Given the description of an element on the screen output the (x, y) to click on. 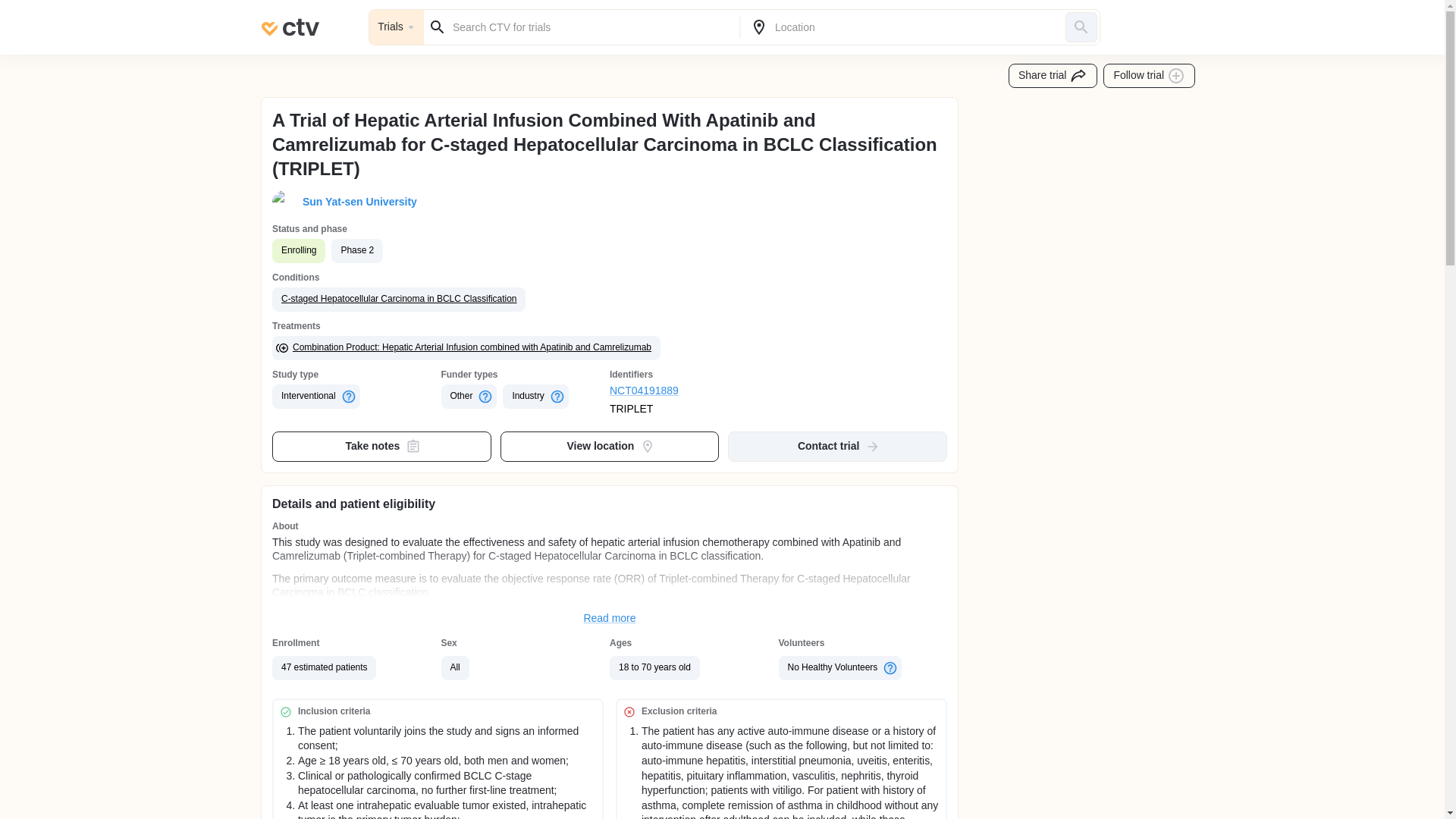
Trials (396, 27)
Read more (609, 618)
View location (609, 446)
Sun Yat-sen University (356, 202)
Take notes (382, 446)
Follow trial (1149, 75)
Contact trial (837, 446)
Share trial (1053, 75)
NCT04191889 (694, 391)
